Given the description of an element on the screen output the (x, y) to click on. 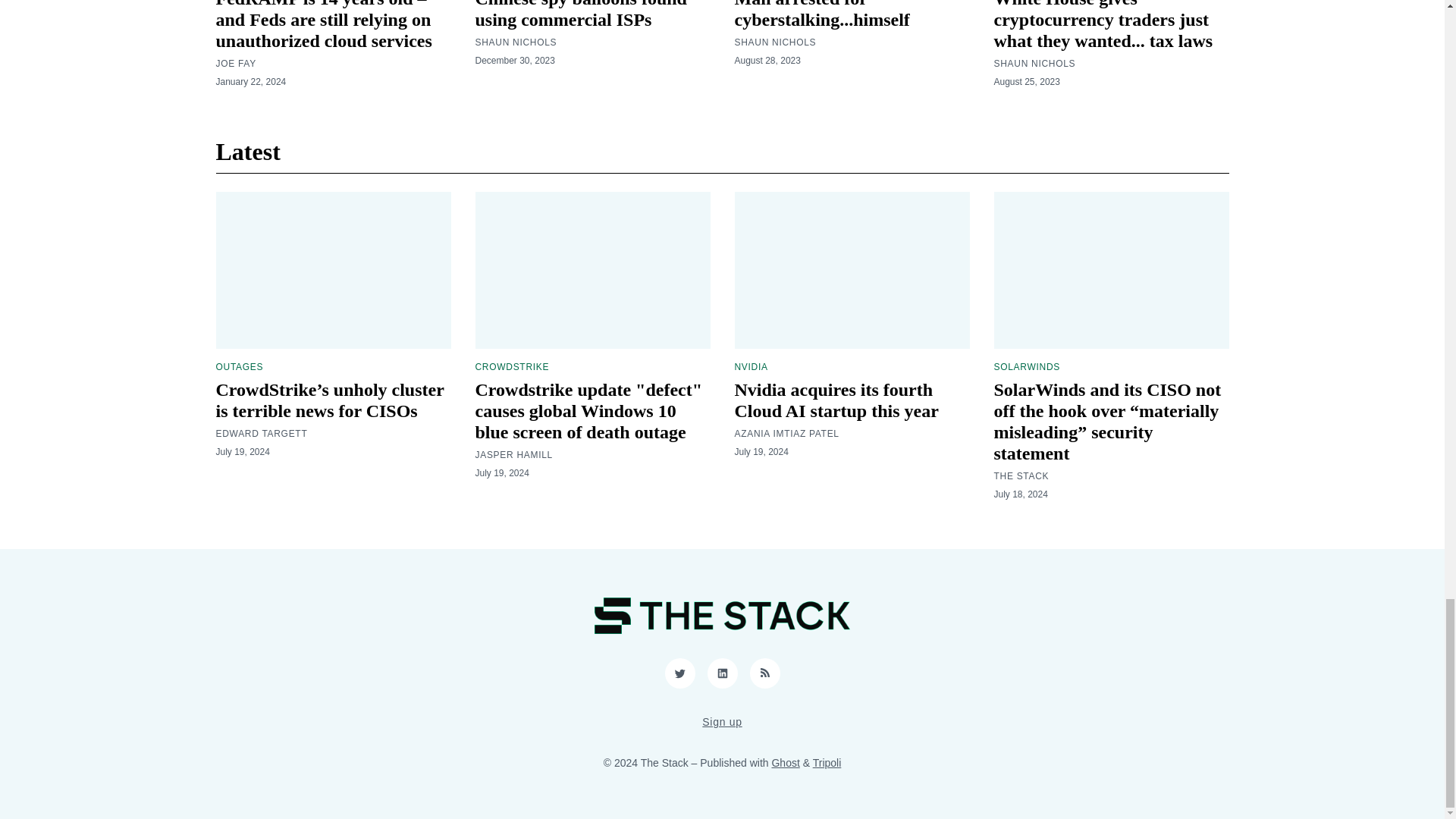
JOE FAY (235, 63)
SHAUN NICHOLS (774, 42)
SHAUN NICHOLS (515, 42)
Man arrested for cyberstalking...himself (820, 14)
Chinese spy balloons found using commercial ISPs (579, 14)
